Given the description of an element on the screen output the (x, y) to click on. 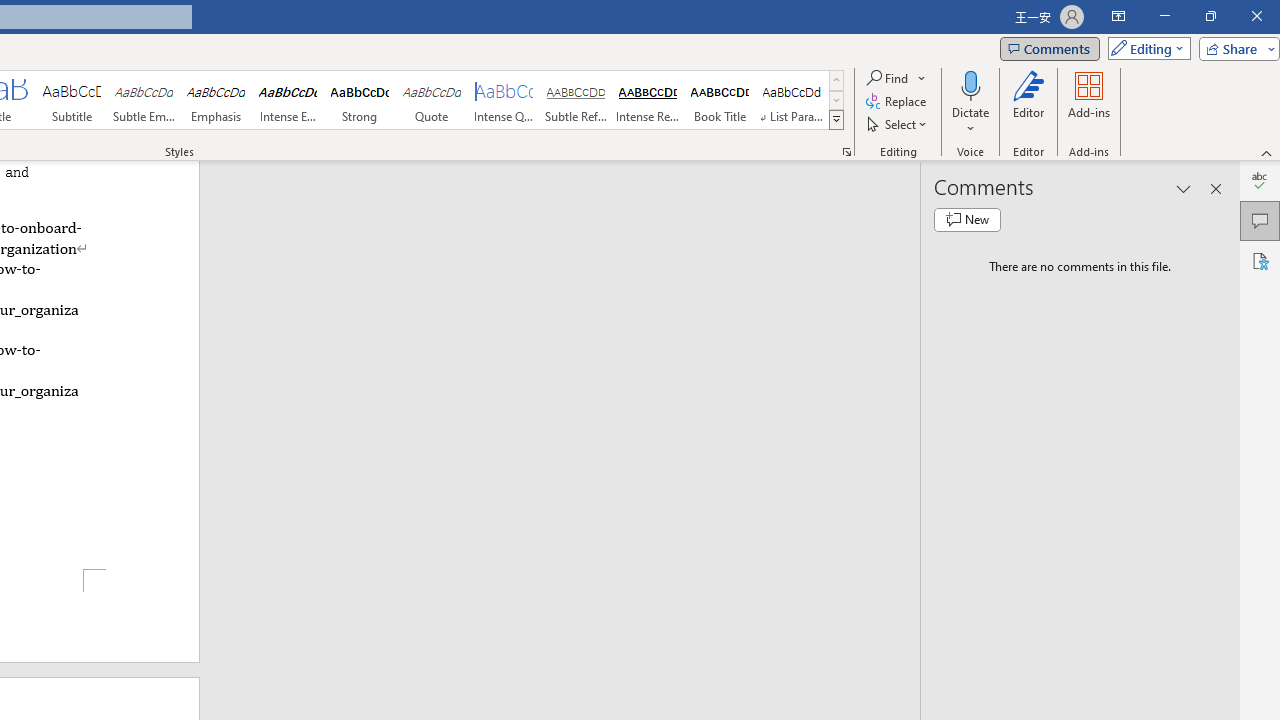
Strong (359, 100)
Intense Emphasis (287, 100)
